Given the description of an element on the screen output the (x, y) to click on. 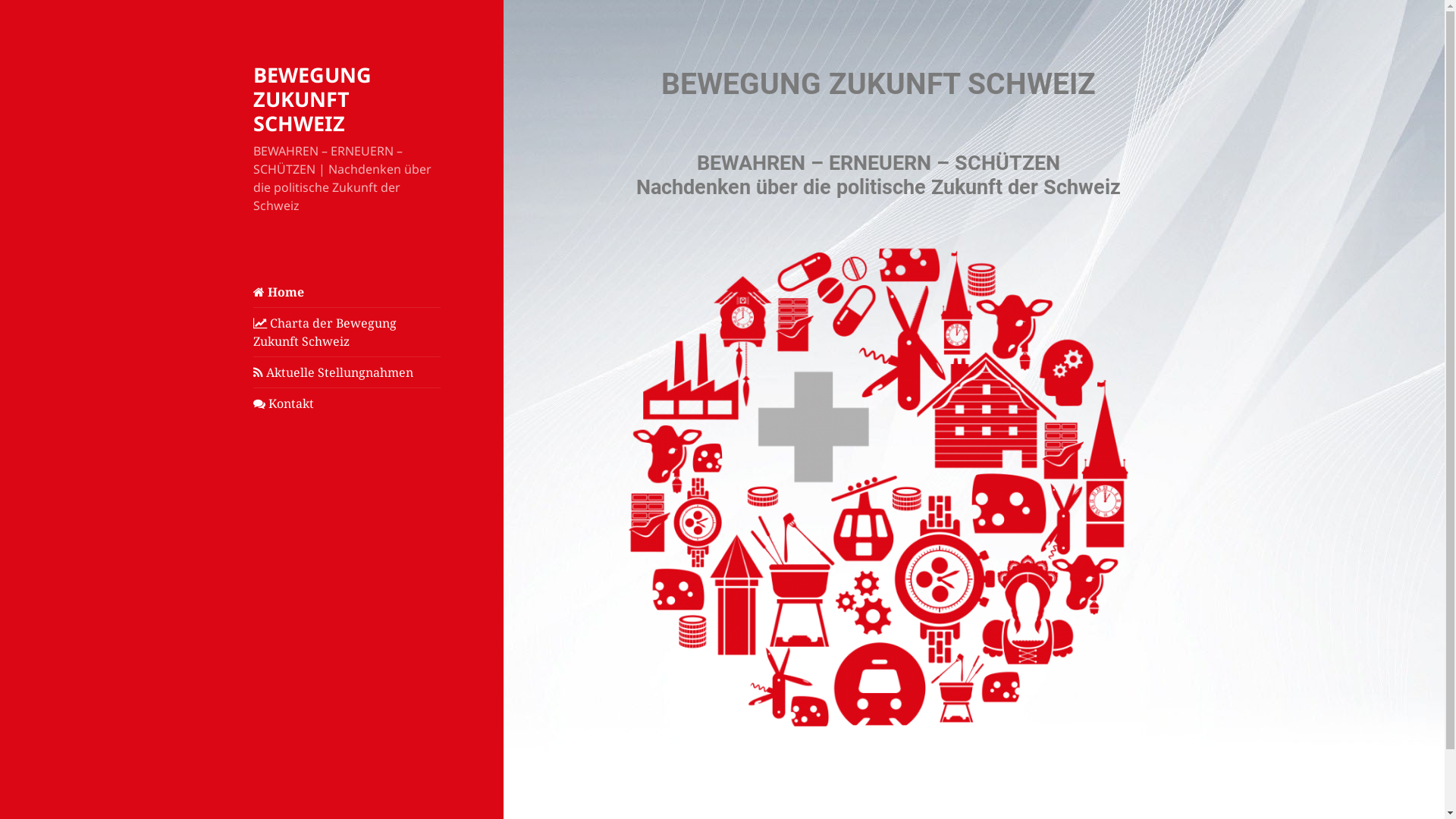
Home Element type: text (347, 291)
Aktuelle Stellungnahmen Element type: text (347, 372)
Kontakt Element type: text (347, 403)
BEWEGUNG ZUKUNFT SCHWEIZ Element type: text (312, 98)
Charta der Bewegung Zukunft Schweiz Element type: text (347, 331)
